Given the description of an element on the screen output the (x, y) to click on. 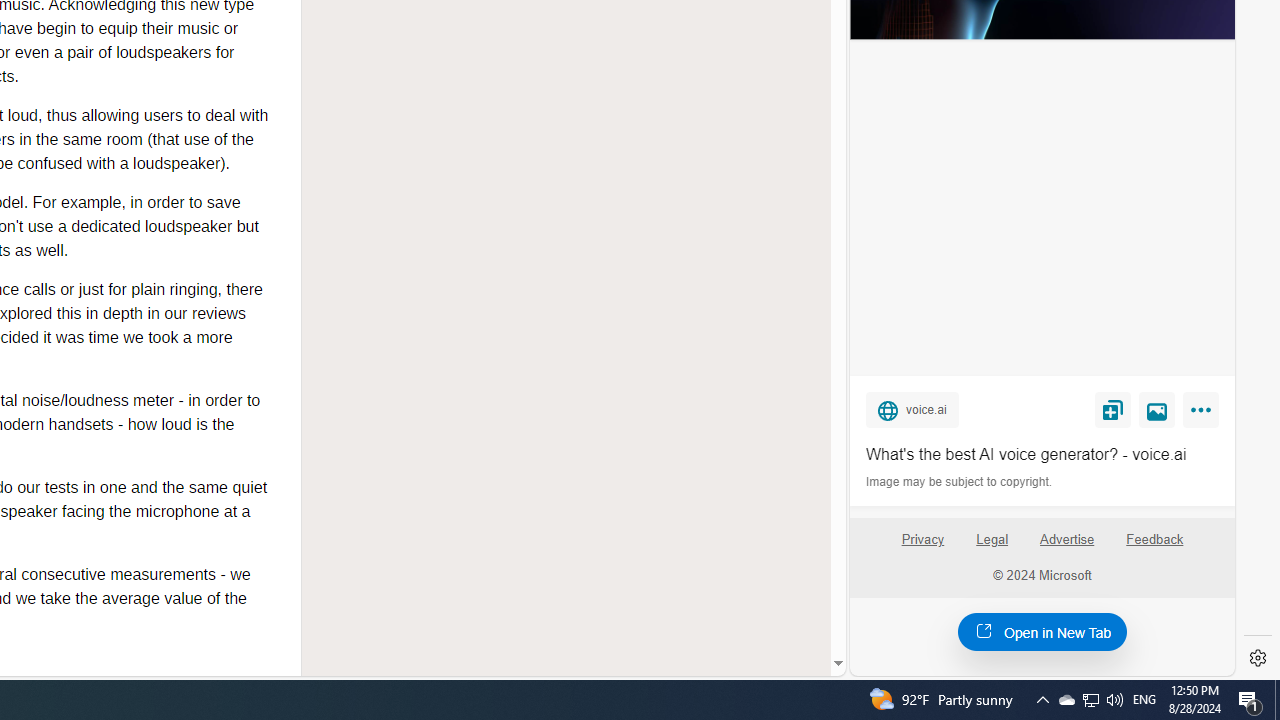
Open in New Tab (1042, 631)
Image may be subject to copyright. (959, 481)
voice.ai (912, 409)
Settings (1258, 658)
Legal (991, 539)
What's the best AI voice generator? - voice.ai (1042, 454)
Feedback (1155, 539)
View image (1157, 409)
Feedback (1154, 547)
Advertise (1067, 547)
Advertise (1066, 539)
Save (1112, 409)
Legal (992, 547)
Privacy (922, 547)
